Given the description of an element on the screen output the (x, y) to click on. 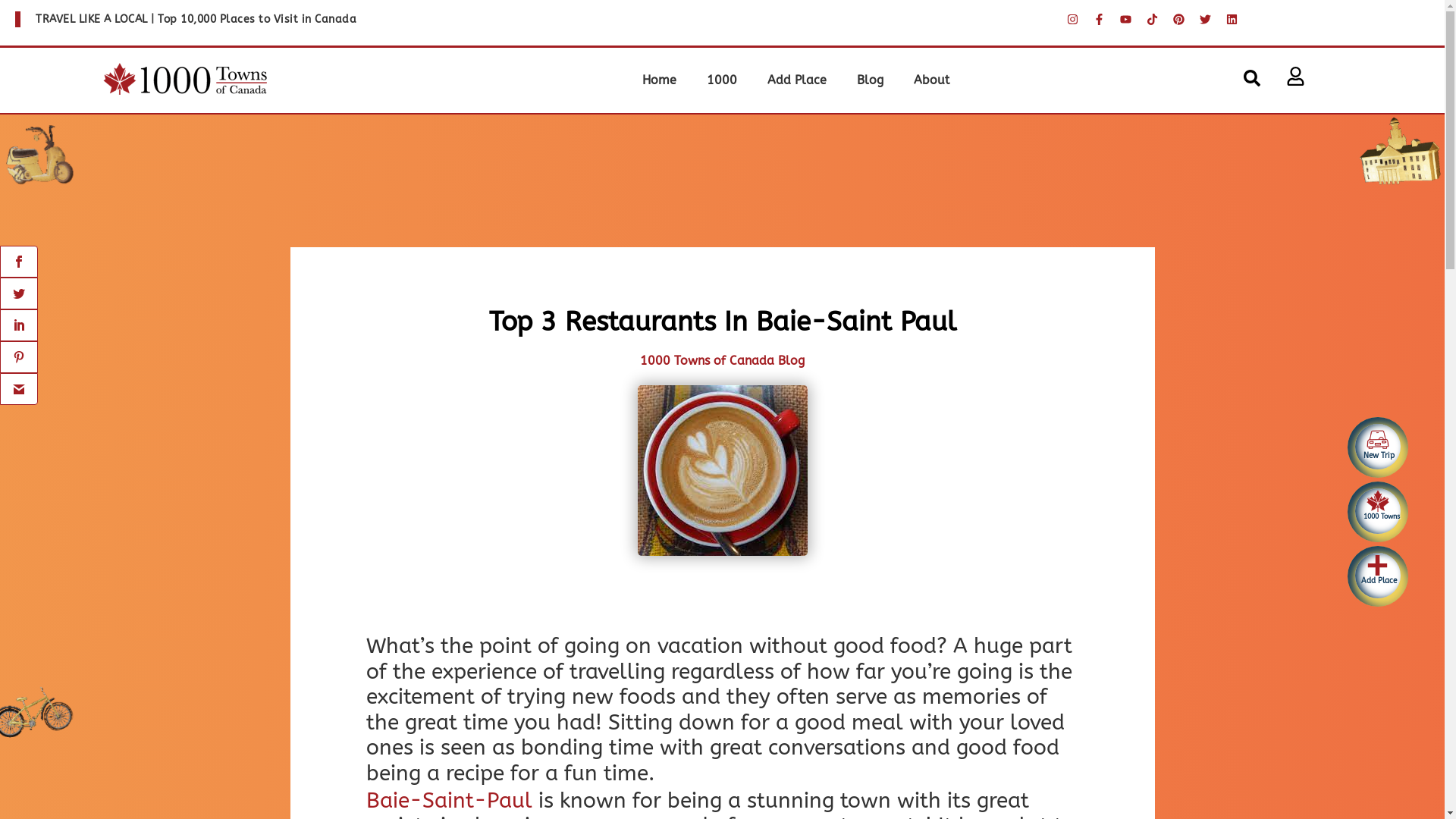
Baie-Saint-Paul Element type: text (448, 799)
1000 Towns of Canada Blog Element type: text (722, 360)
Home Element type: text (659, 79)
New Trip Element type: text (1377, 447)
About Element type: text (931, 79)
Add Place Element type: text (796, 79)
Blog Element type: text (869, 79)
1000 Element type: text (721, 79)
1000 Towns Element type: text (1377, 511)
+
Add Place Element type: text (1377, 576)
